Given the description of an element on the screen output the (x, y) to click on. 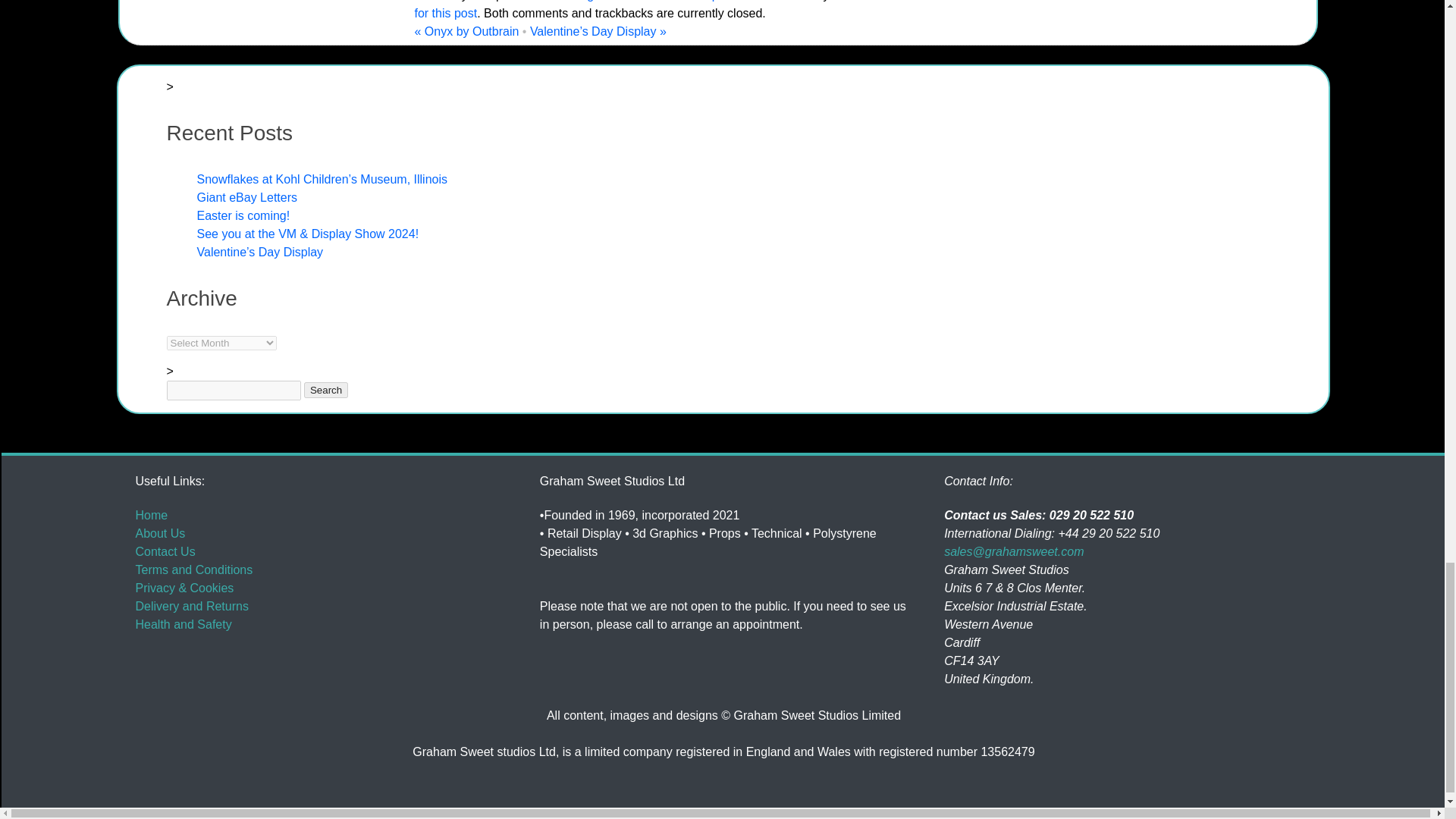
Search (325, 390)
Comments RSS to Sparkling Festive Displays at Coes (714, 9)
Permalink to Sparkling Festive Displays at Coes (737, 0)
